Given the description of an element on the screen output the (x, y) to click on. 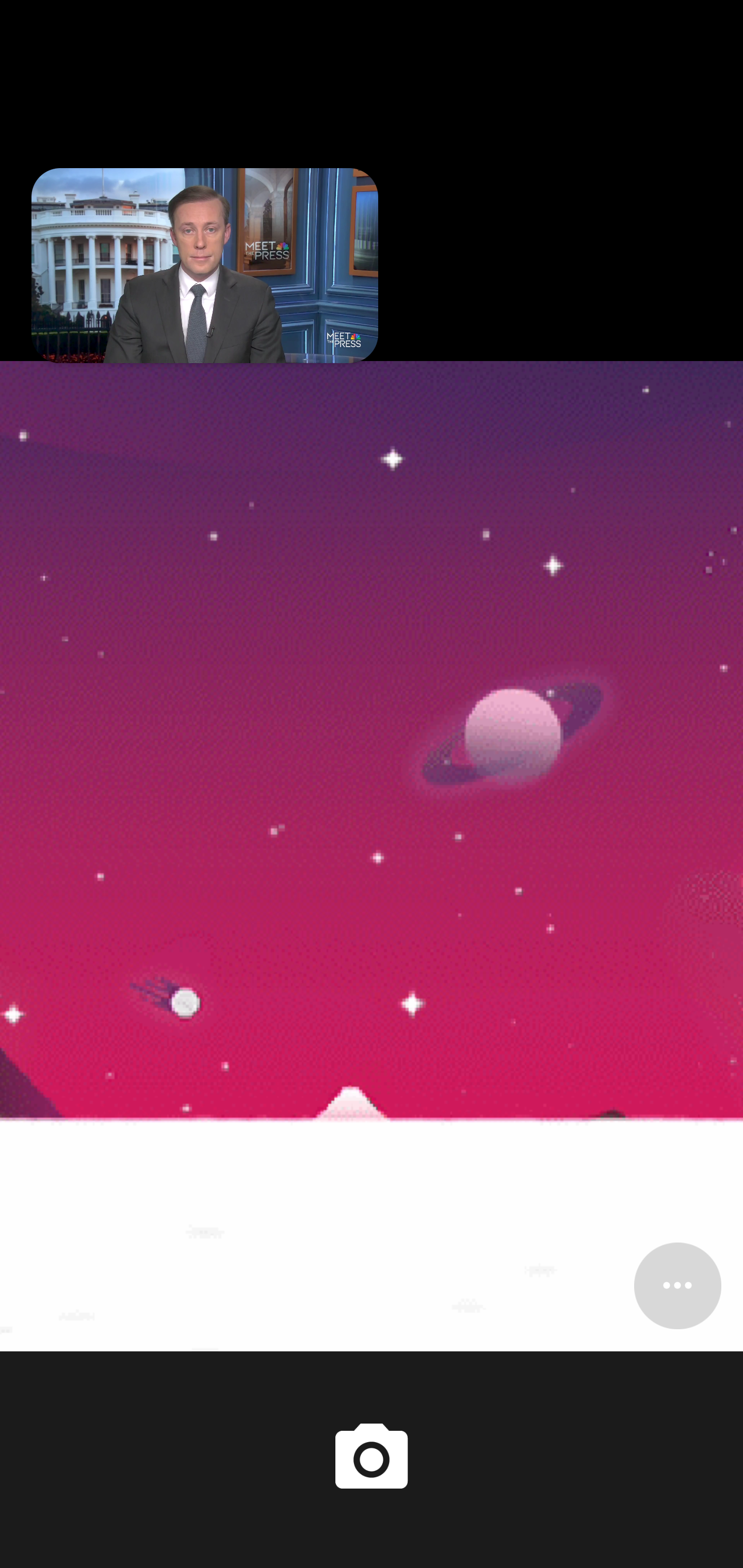
Options (677, 1285)
Shutter (371, 1459)
